Given the description of an element on the screen output the (x, y) to click on. 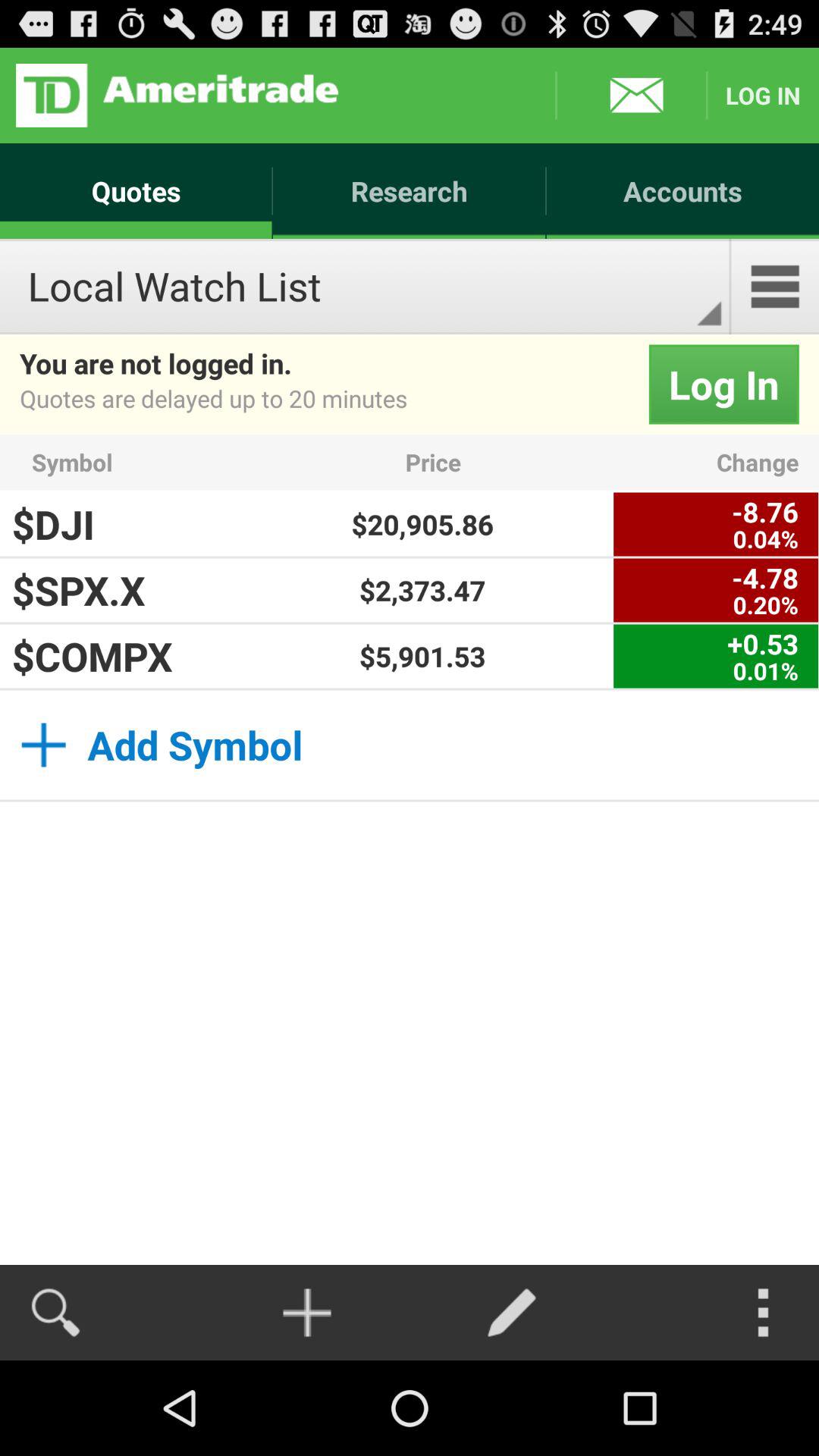
open item below the symbol app (422, 524)
